Given the description of an element on the screen output the (x, y) to click on. 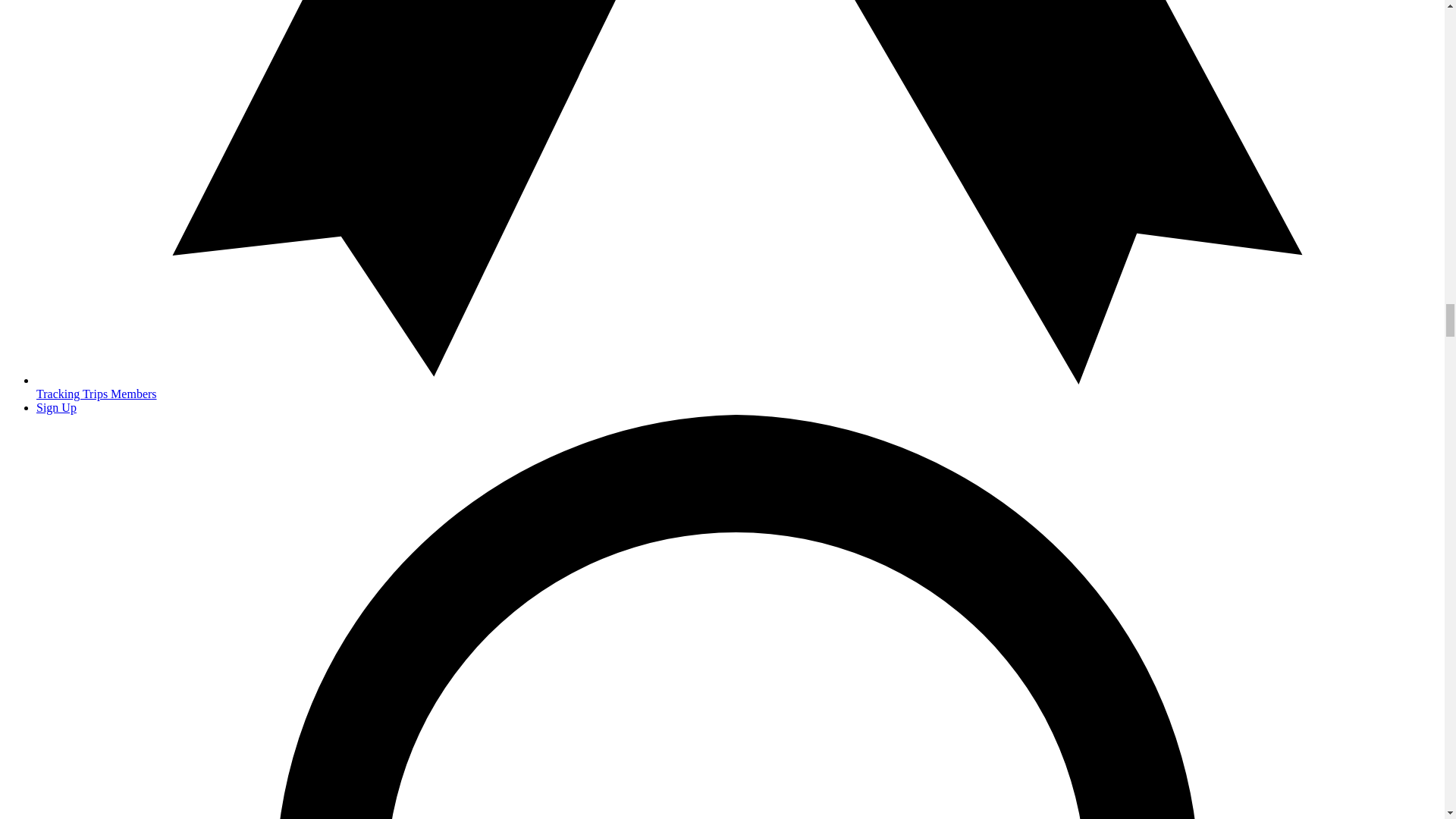
Sign Up (56, 407)
